Given the description of an element on the screen output the (x, y) to click on. 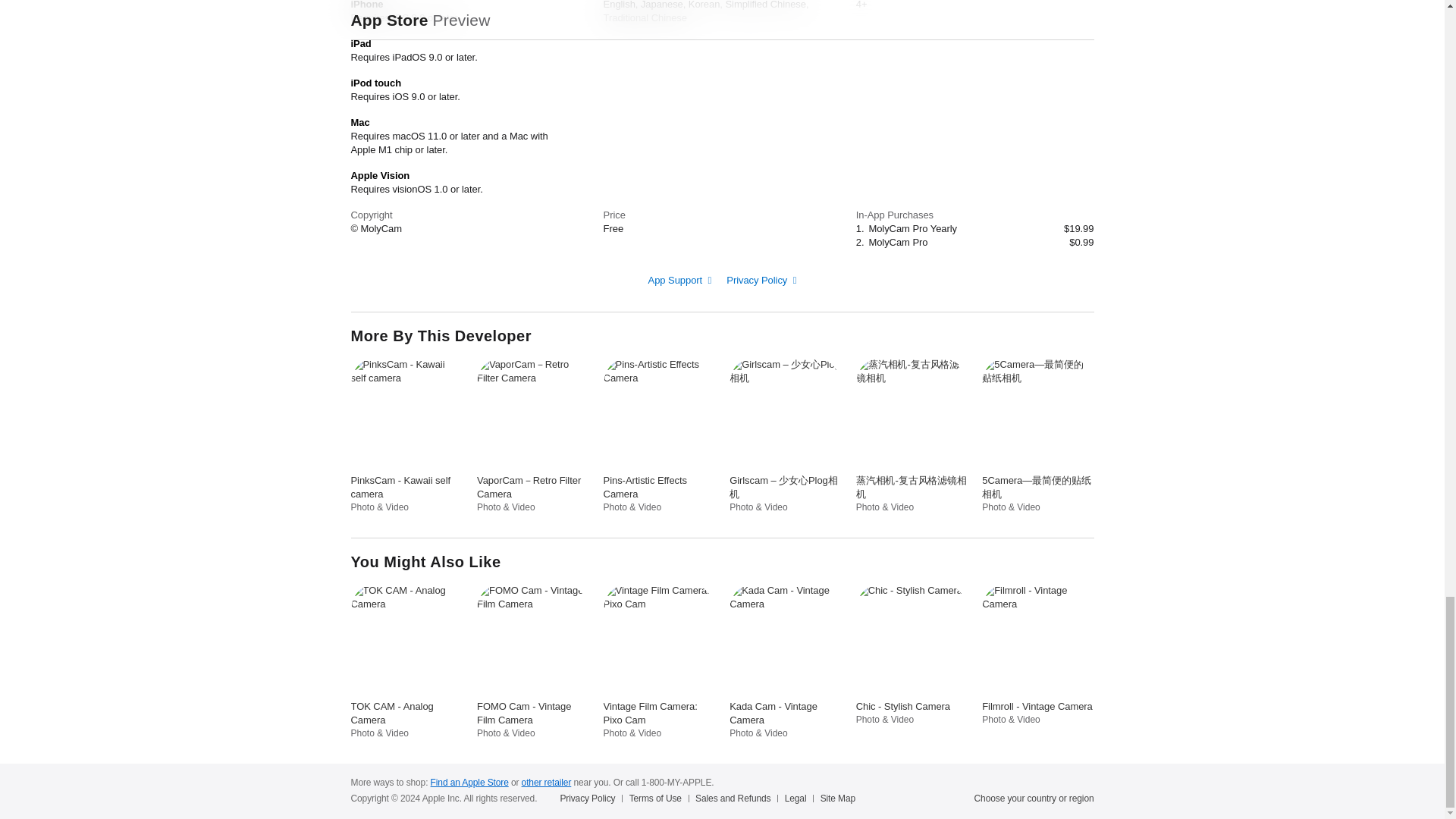
App Support (679, 279)
Privacy Policy (761, 279)
Choose your country or region (1034, 798)
